Given the description of an element on the screen output the (x, y) to click on. 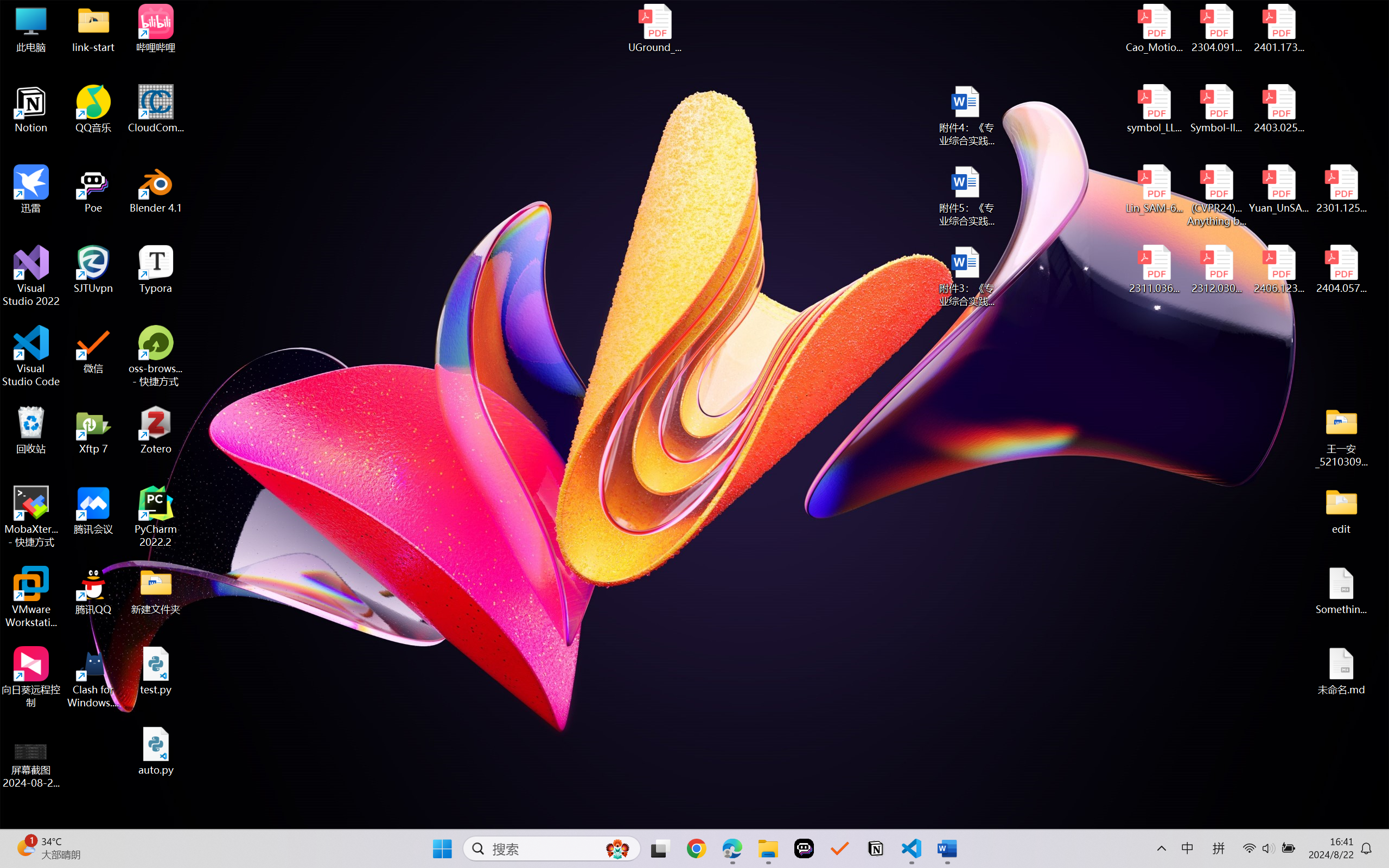
Poe (804, 848)
Xftp 7 (93, 430)
VMware Workstation Pro (31, 597)
Symbol-llm-v2.pdf (1216, 109)
